Given the description of an element on the screen output the (x, y) to click on. 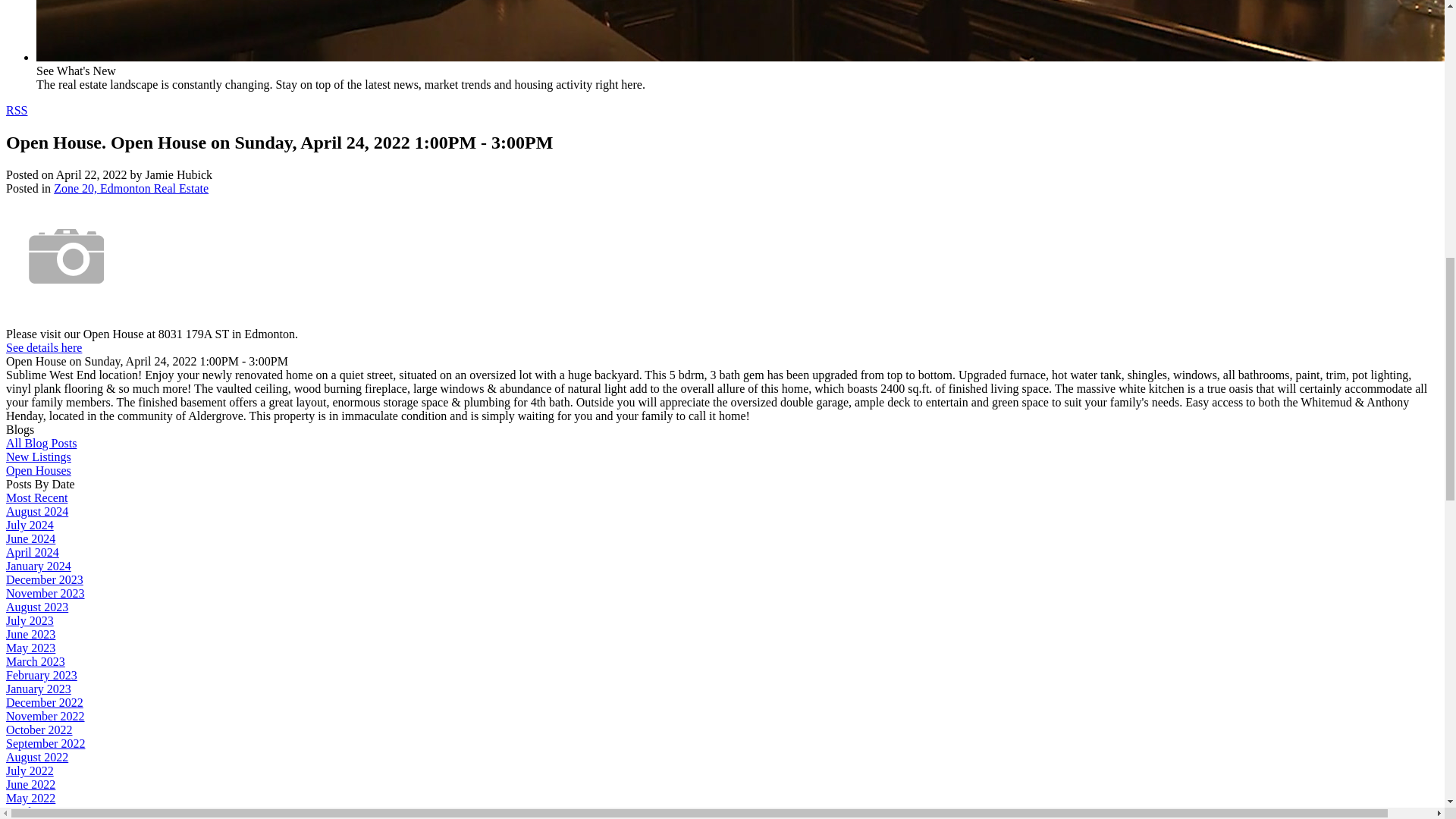
January 2024 (38, 565)
December 2023 (43, 579)
Most Recent (35, 497)
June 2024 (30, 538)
April 2024 (32, 552)
August 2024 (36, 511)
All Blog Posts (41, 442)
New Listings (38, 456)
Open Houses (38, 470)
Zone 20, Edmonton Real Estate (130, 187)
July 2024 (29, 524)
See details here (43, 347)
RSS (16, 110)
